Given the description of an element on the screen output the (x, y) to click on. 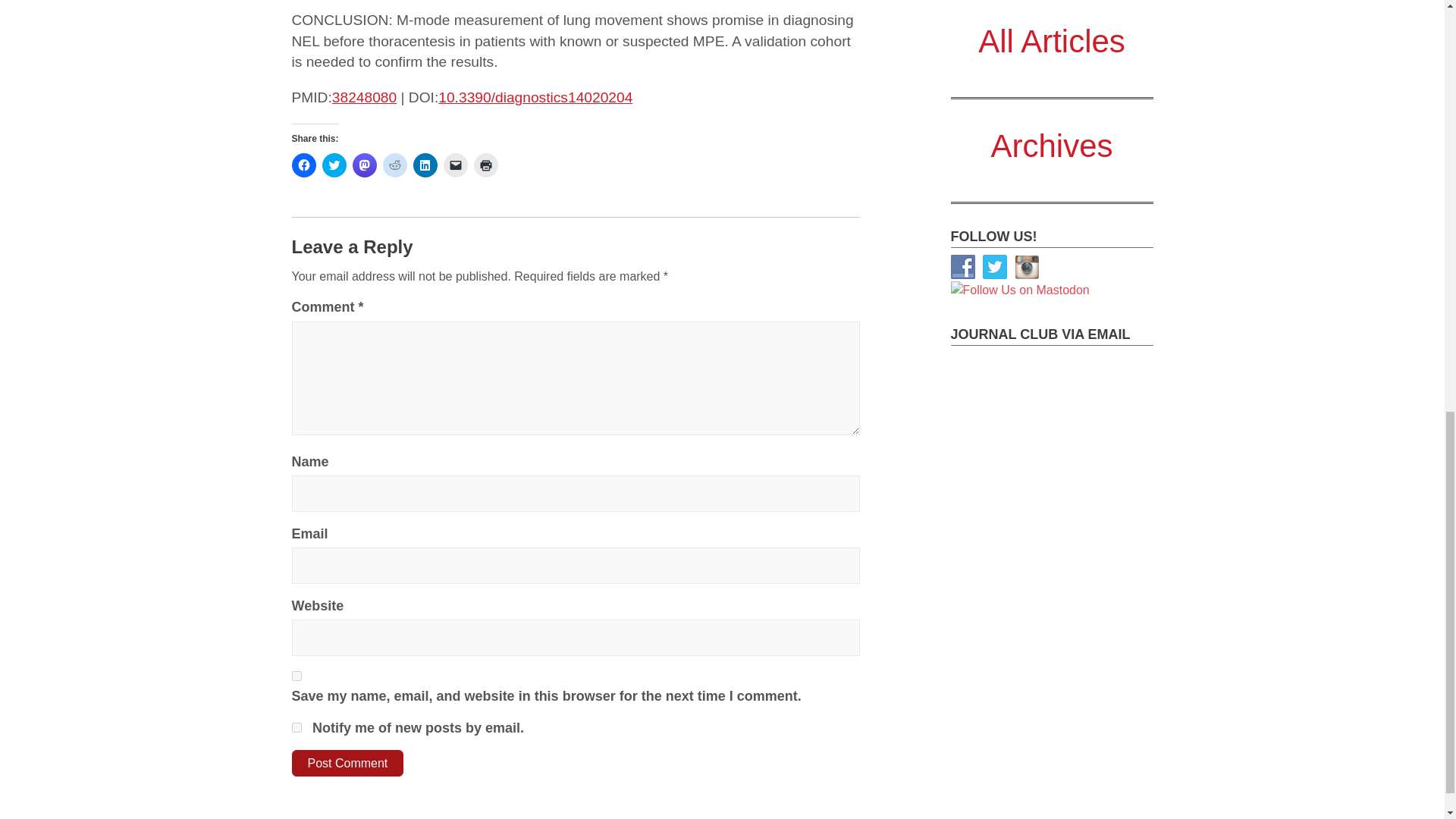
subscribe (296, 727)
yes (296, 675)
38248080 (363, 97)
Click to print (485, 165)
Post Comment (347, 763)
Click to share on Mastodon (363, 165)
Click to share on Reddit (393, 165)
Click to email a link to a friend (454, 165)
Post Comment (347, 763)
Click to share on Facebook (303, 165)
